Given the description of an element on the screen output the (x, y) to click on. 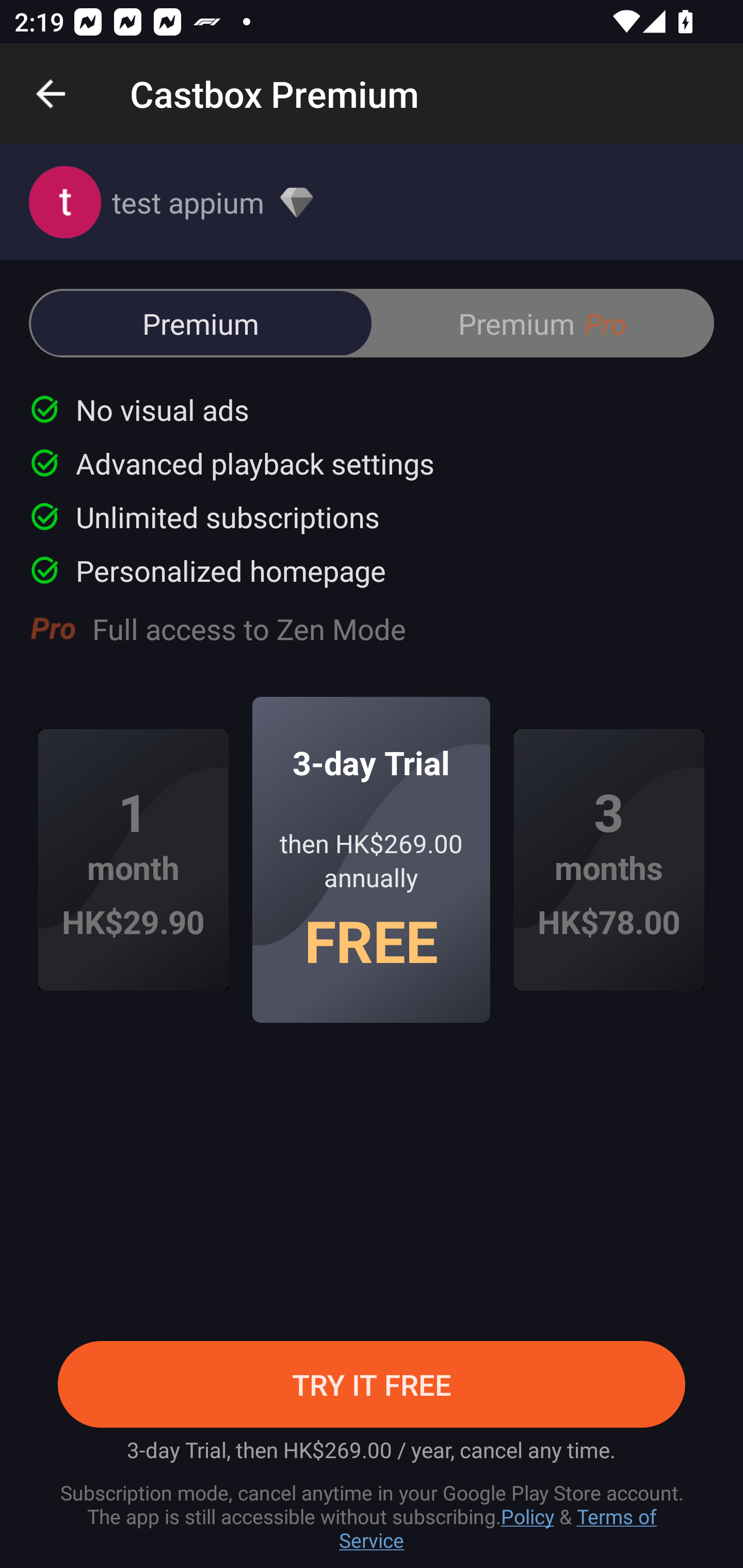
Navigate up (50, 93)
test appium (371, 202)
Premium (201, 322)
Premium Pro (541, 322)
3-day Trial then HK$269.00 annually FREE (371, 859)
1 month HK$29.90 (132, 859)
3 months HK$78.00 (609, 859)
TRY IT FREE (371, 1384)
